Given the description of an element on the screen output the (x, y) to click on. 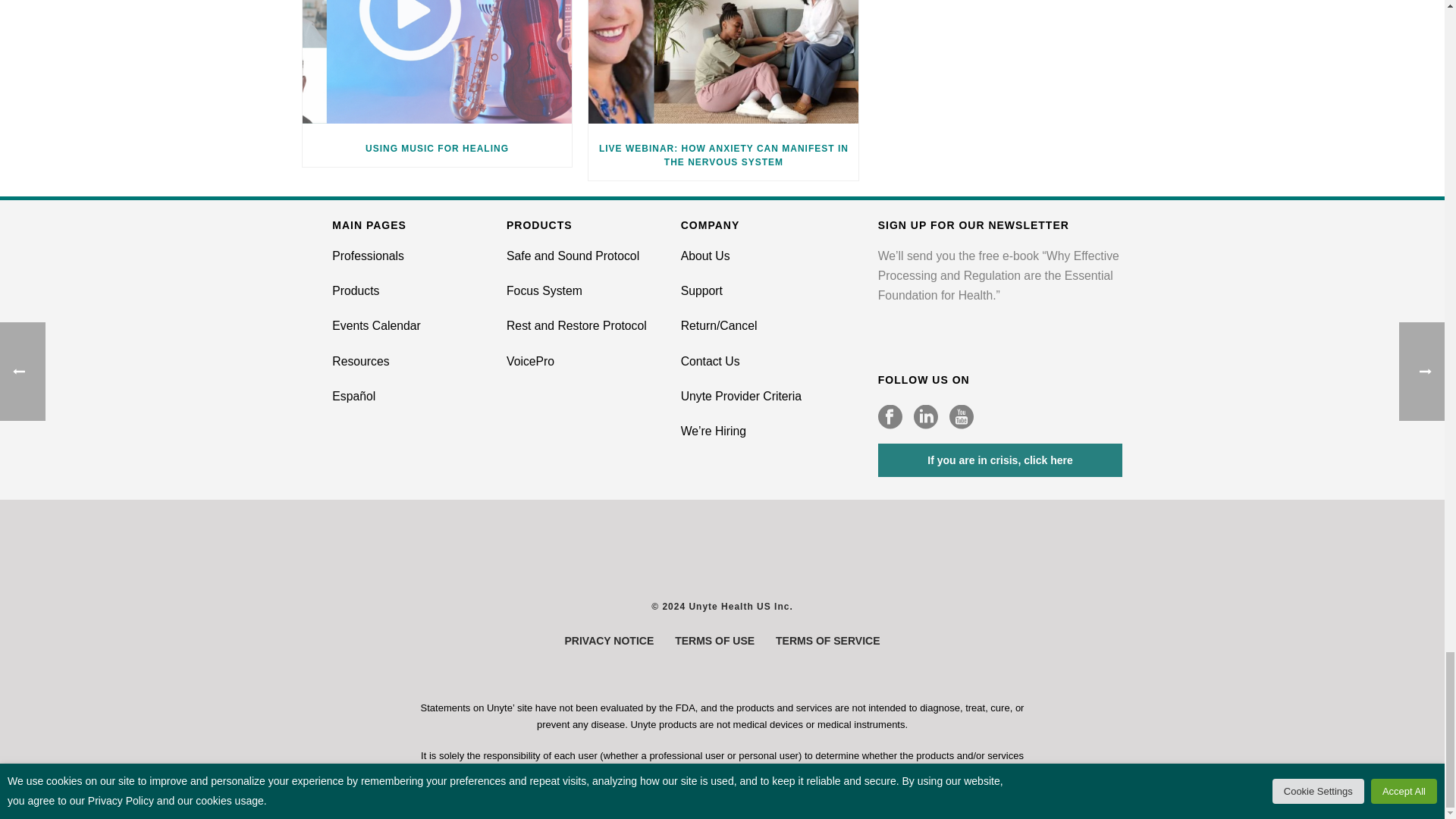
Follow Us on facebook (889, 417)
Using Music for Healing (436, 65)
Follow Us on linkedin (925, 417)
Follow Us on youtube (961, 417)
Live Webinar: How Anxiety Can Manifest in the Nervous System (723, 65)
